Given the description of an element on the screen output the (x, y) to click on. 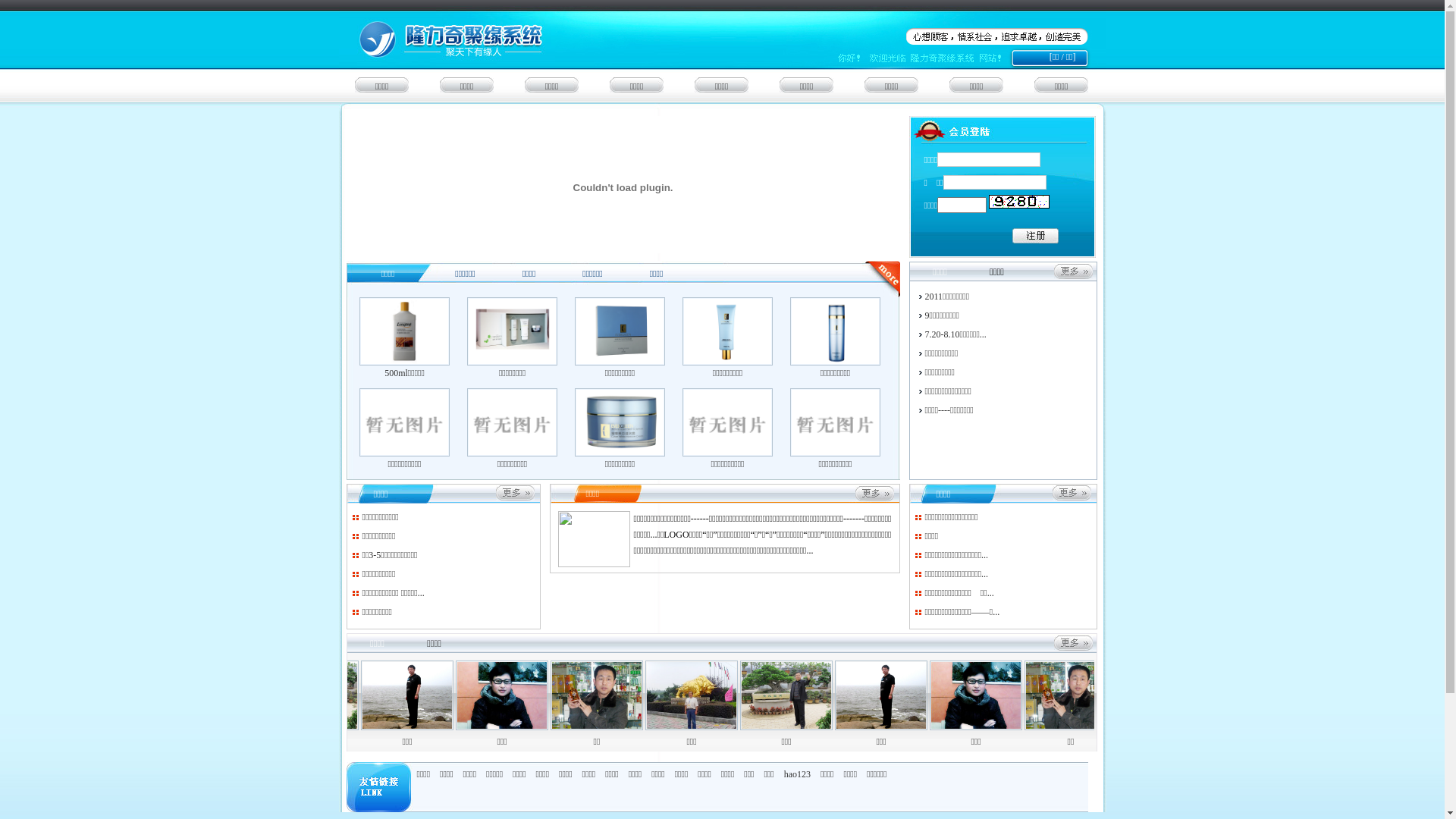
hao123 Element type: text (797, 773)
